Given the description of an element on the screen output the (x, y) to click on. 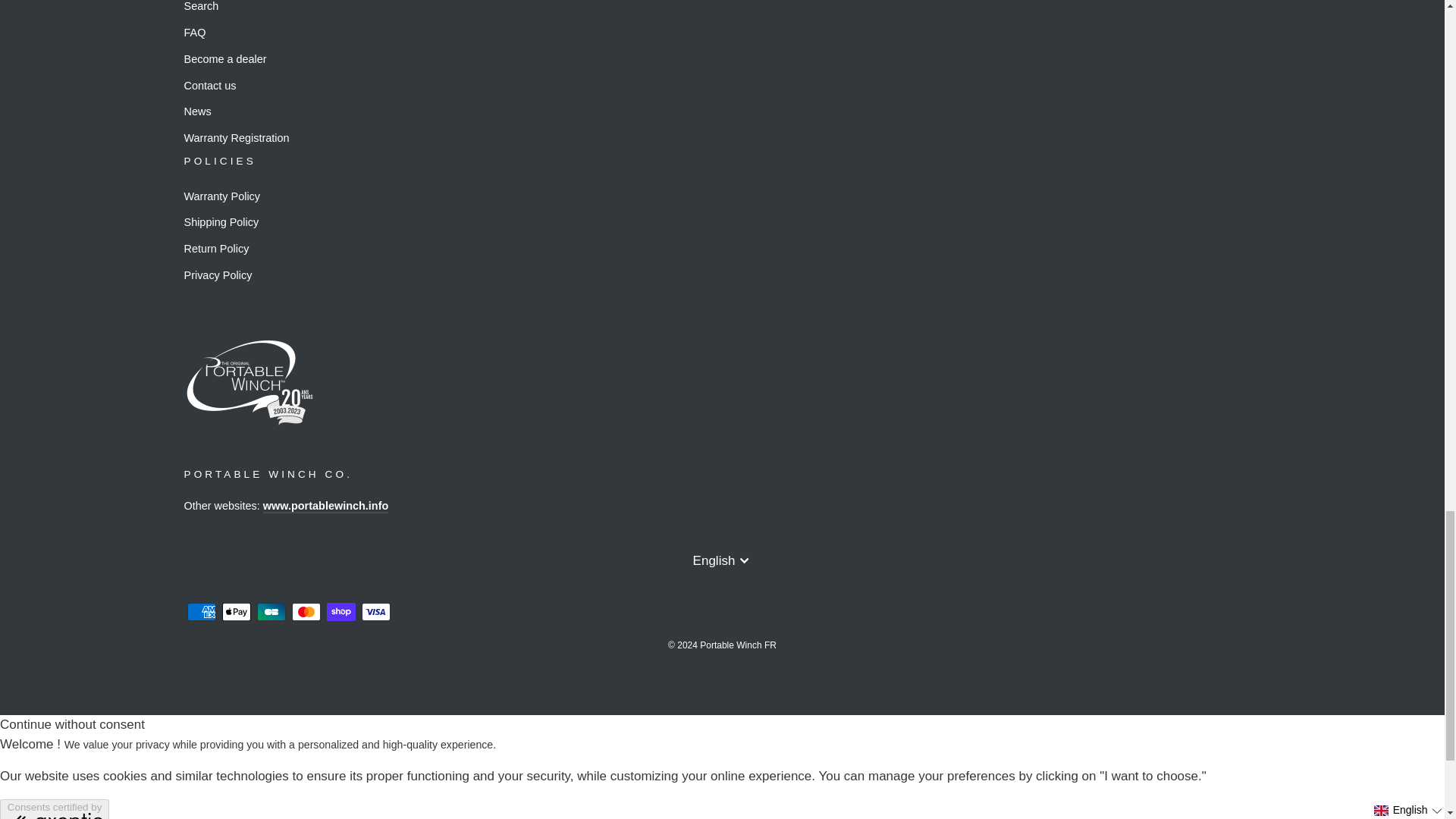
Shop Pay (340, 611)
Apple Pay (235, 611)
Cartes Bancaires (270, 611)
Visa (375, 611)
Mastercard (305, 611)
American Express (200, 611)
